Given the description of an element on the screen output the (x, y) to click on. 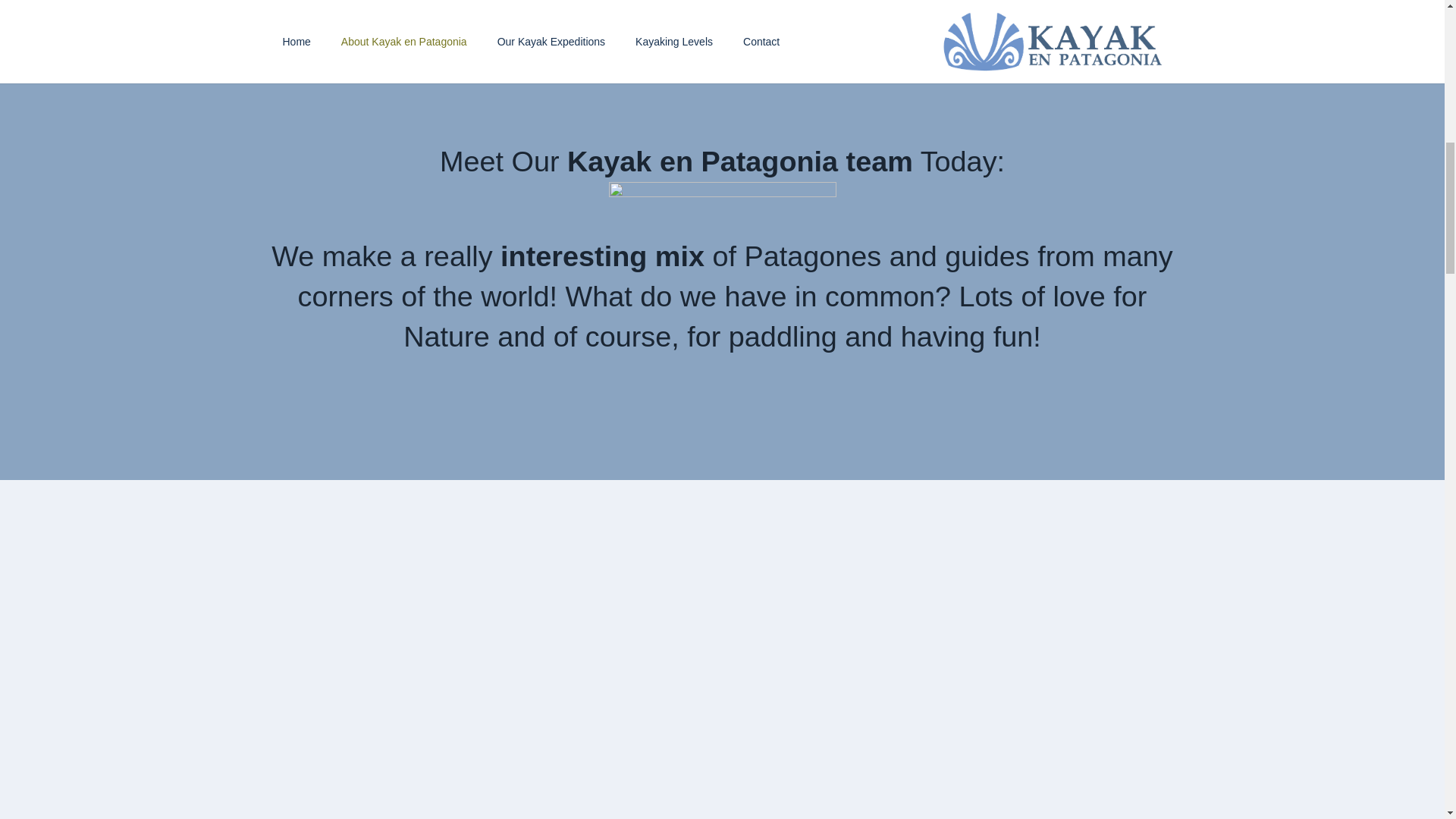
Back to top (1413, 37)
